Given the description of an element on the screen output the (x, y) to click on. 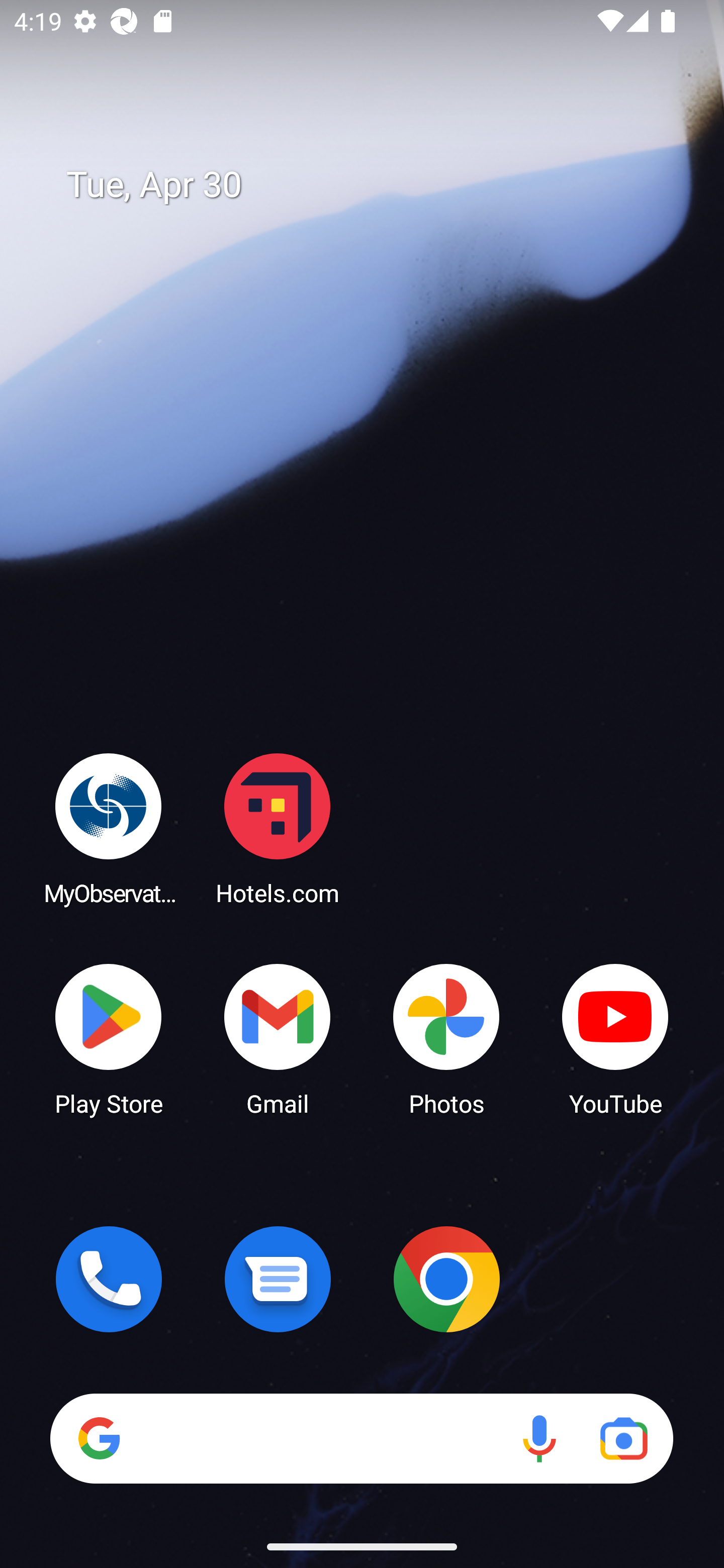
Tue, Apr 30 (375, 184)
MyObservatory (108, 828)
Hotels.com (277, 828)
Play Store (108, 1038)
Gmail (277, 1038)
Photos (445, 1038)
YouTube (615, 1038)
Phone (108, 1279)
Messages (277, 1279)
Chrome (446, 1279)
Voice search (539, 1438)
Google Lens (623, 1438)
